Given the description of an element on the screen output the (x, y) to click on. 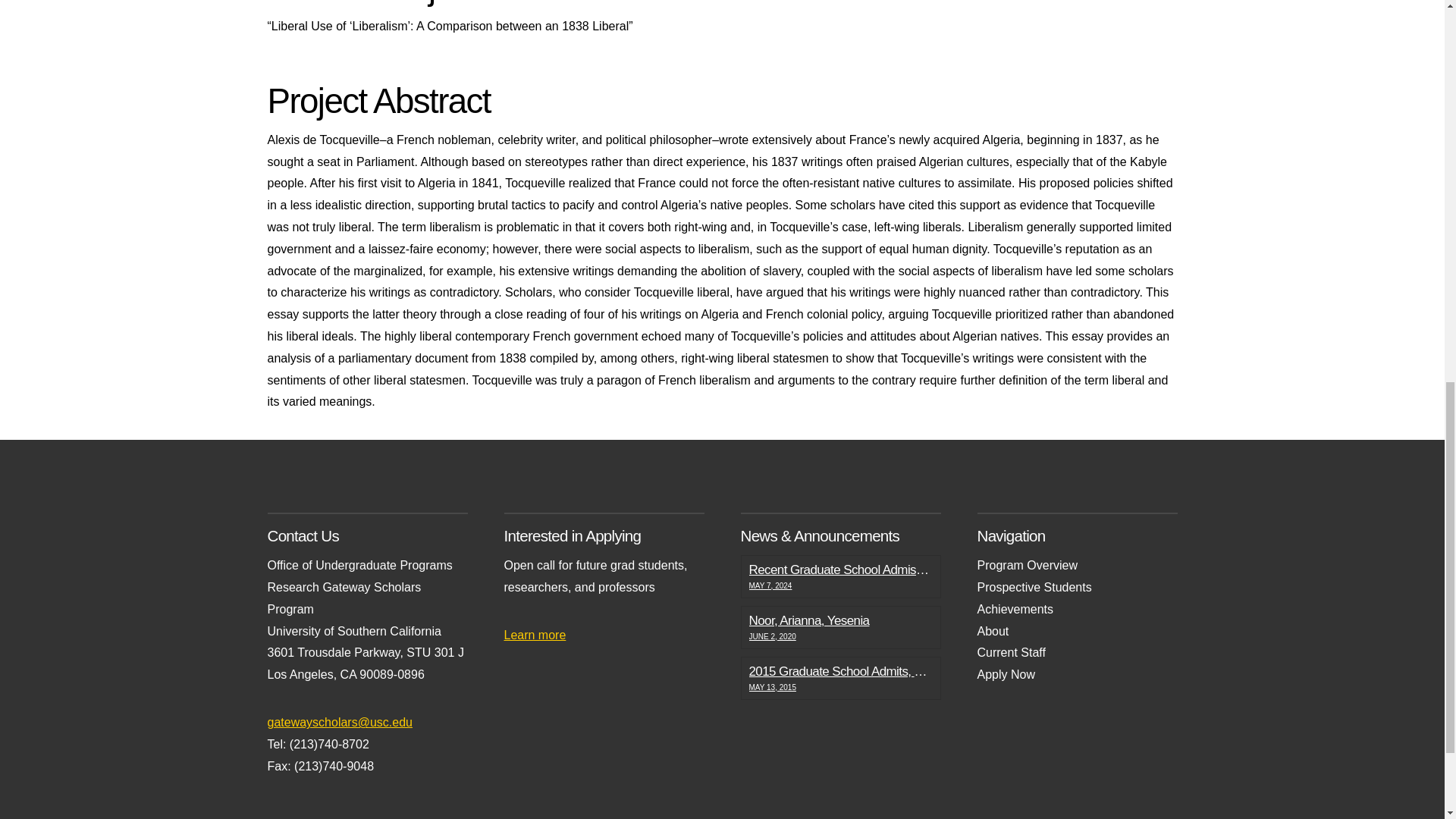
Permalink to: "Recent Graduate School Admission Offers!" (839, 576)
Permalink to: "Noor, Arianna, Yesenia" (839, 627)
